Given the description of an element on the screen output the (x, y) to click on. 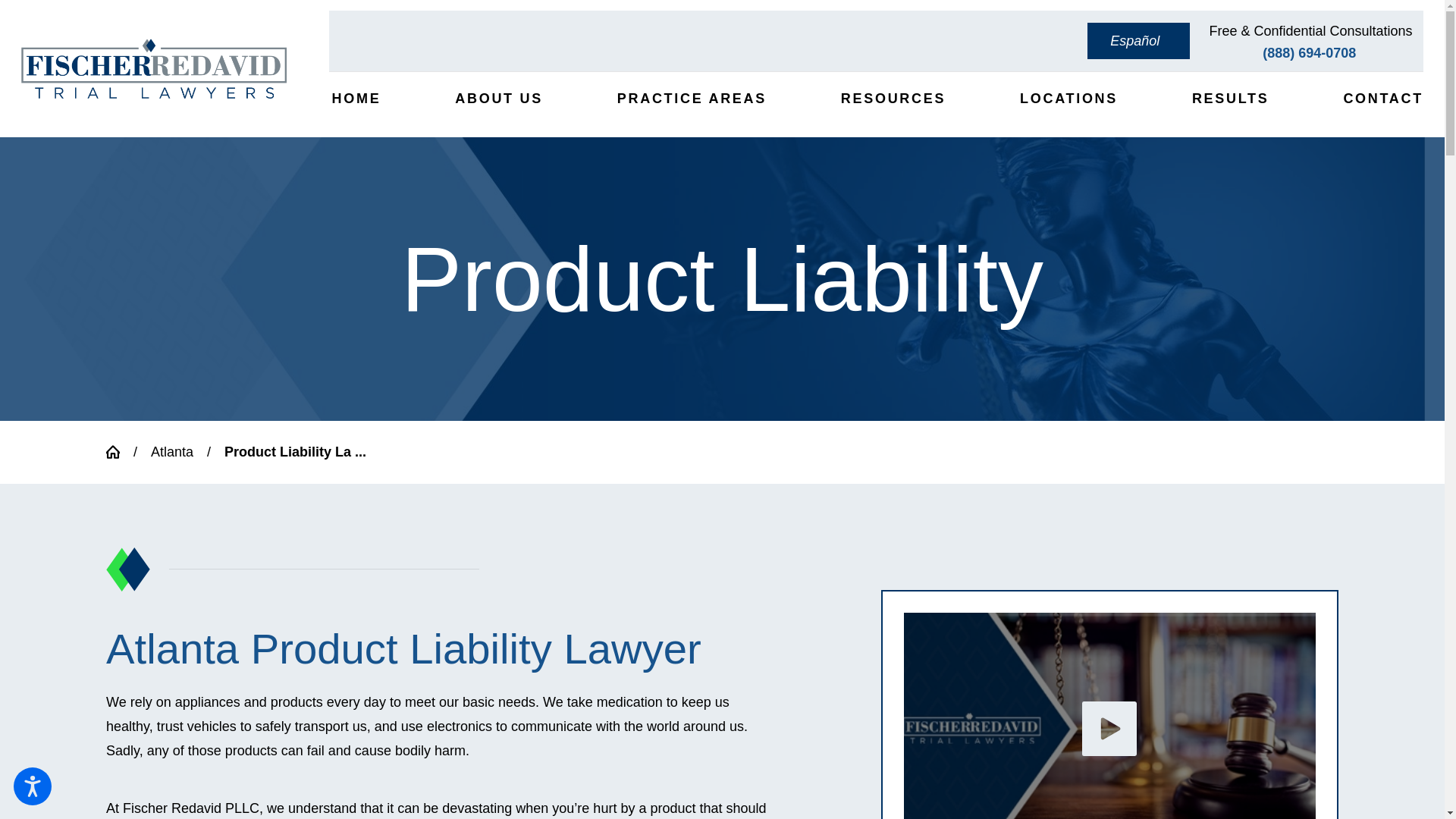
Fischer Redavid (1110, 715)
HOME (354, 98)
ABOUT US (497, 98)
LOCATIONS (1067, 98)
Go Home (119, 451)
PRACTICE AREAS (690, 98)
RESOURCES (891, 98)
Open the accessibility options menu (31, 786)
Fischer Redavid PLLC (153, 68)
